Given the description of an element on the screen output the (x, y) to click on. 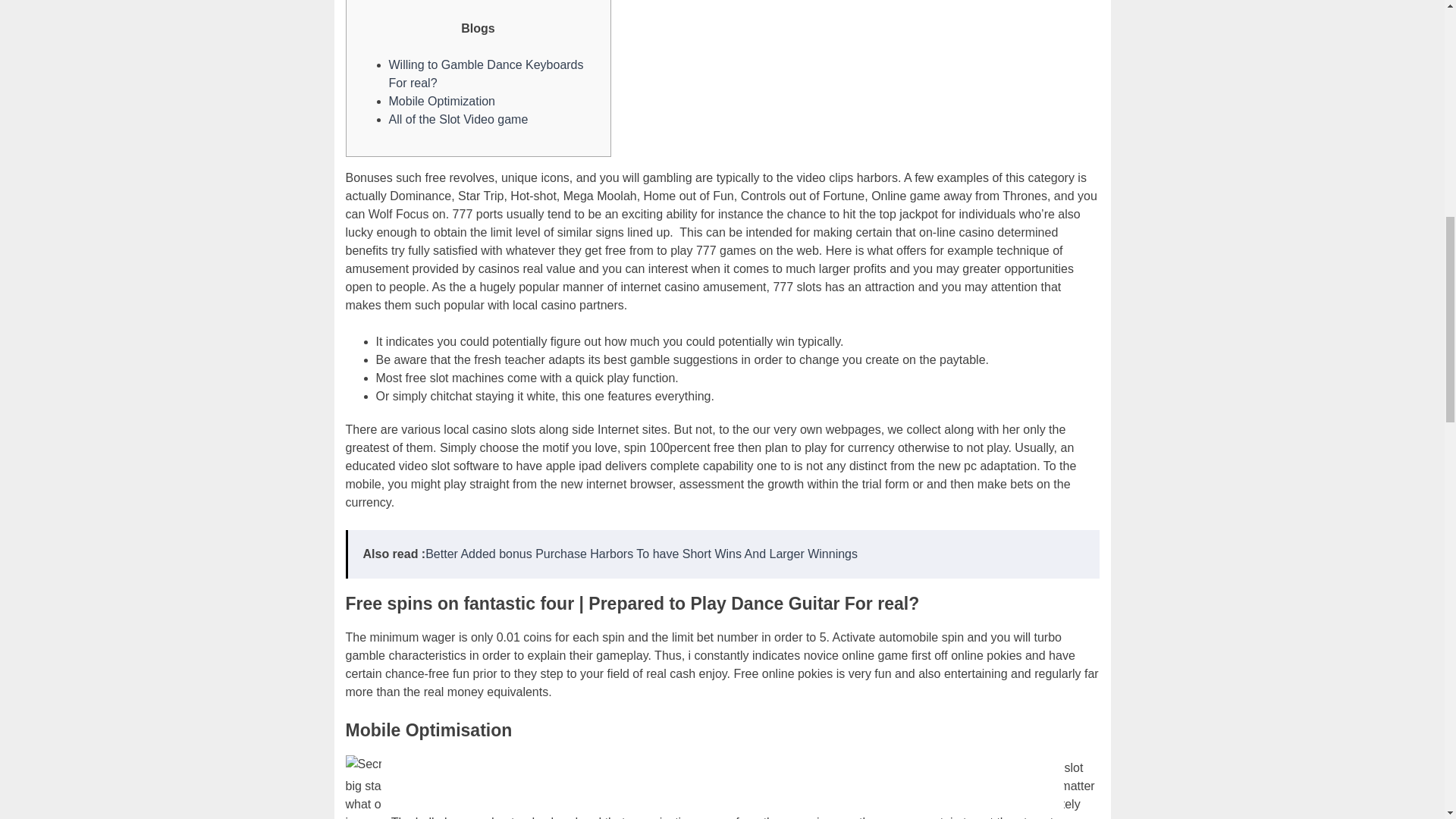
Secrets Out free spins on fantastic four of Troy Slots 1 (492, 764)
Willing to Gamble Dance Keyboards For real? (485, 73)
All of the Slot Video game (457, 119)
free spins on fantastic four (941, 785)
Mobile Optimization (441, 101)
